Given the description of an element on the screen output the (x, y) to click on. 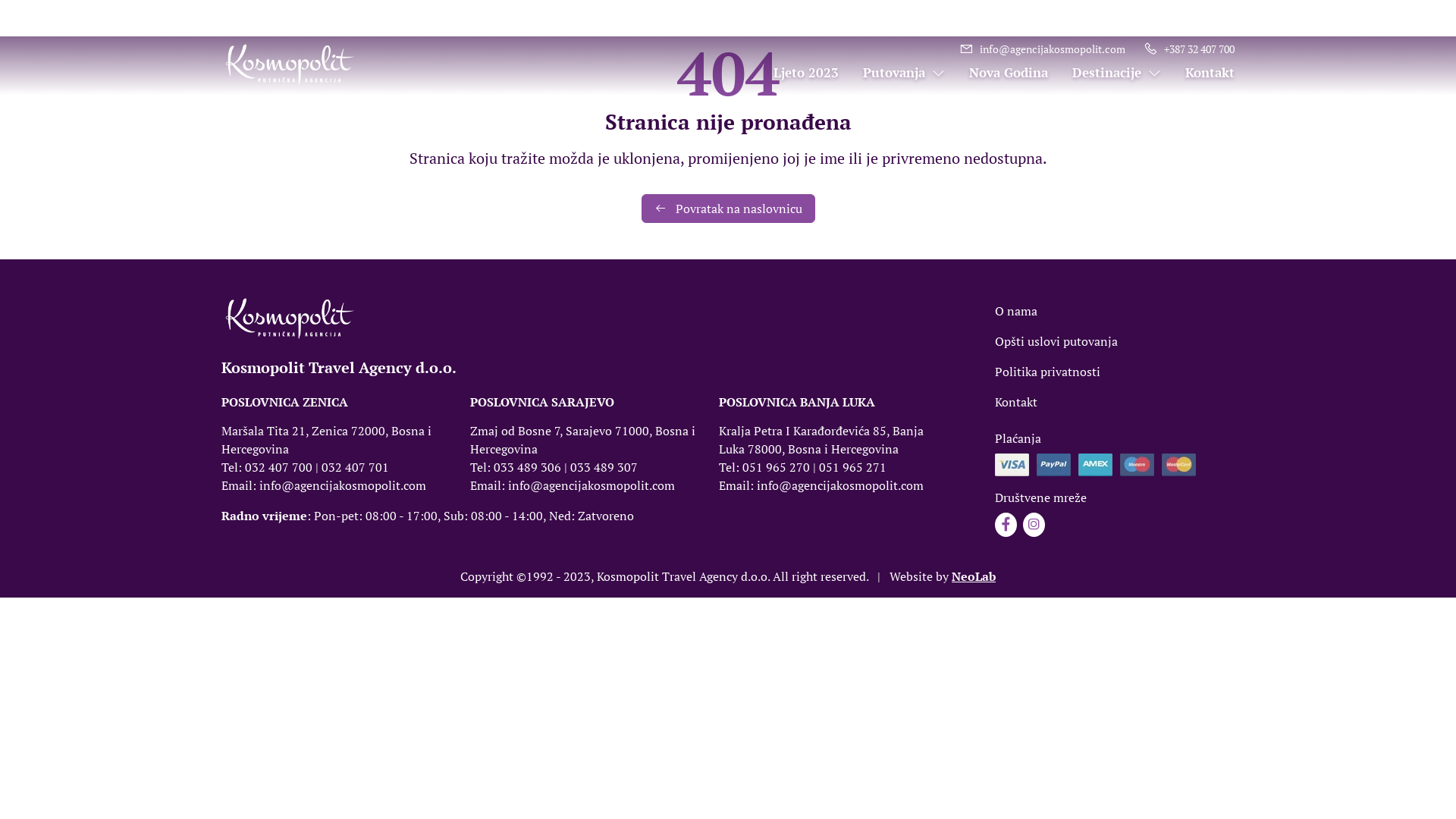
NeoLab Element type: text (973, 575)
Destinacije Element type: text (1104, 72)
Nova Godina Element type: text (996, 72)
Kontakt Element type: text (1197, 72)
O nama Element type: text (1015, 310)
Kontakt Element type: text (1015, 401)
Putovanja Element type: text (891, 72)
Politika privatnosti Element type: text (1047, 371)
info@agencijakosmopolit.com Element type: text (1042, 48)
+387 32 407 700 Element type: text (1188, 48)
Ljeto 2023 Element type: text (793, 72)
Povratak na naslovnicu Element type: text (728, 208)
